Given the description of an element on the screen output the (x, y) to click on. 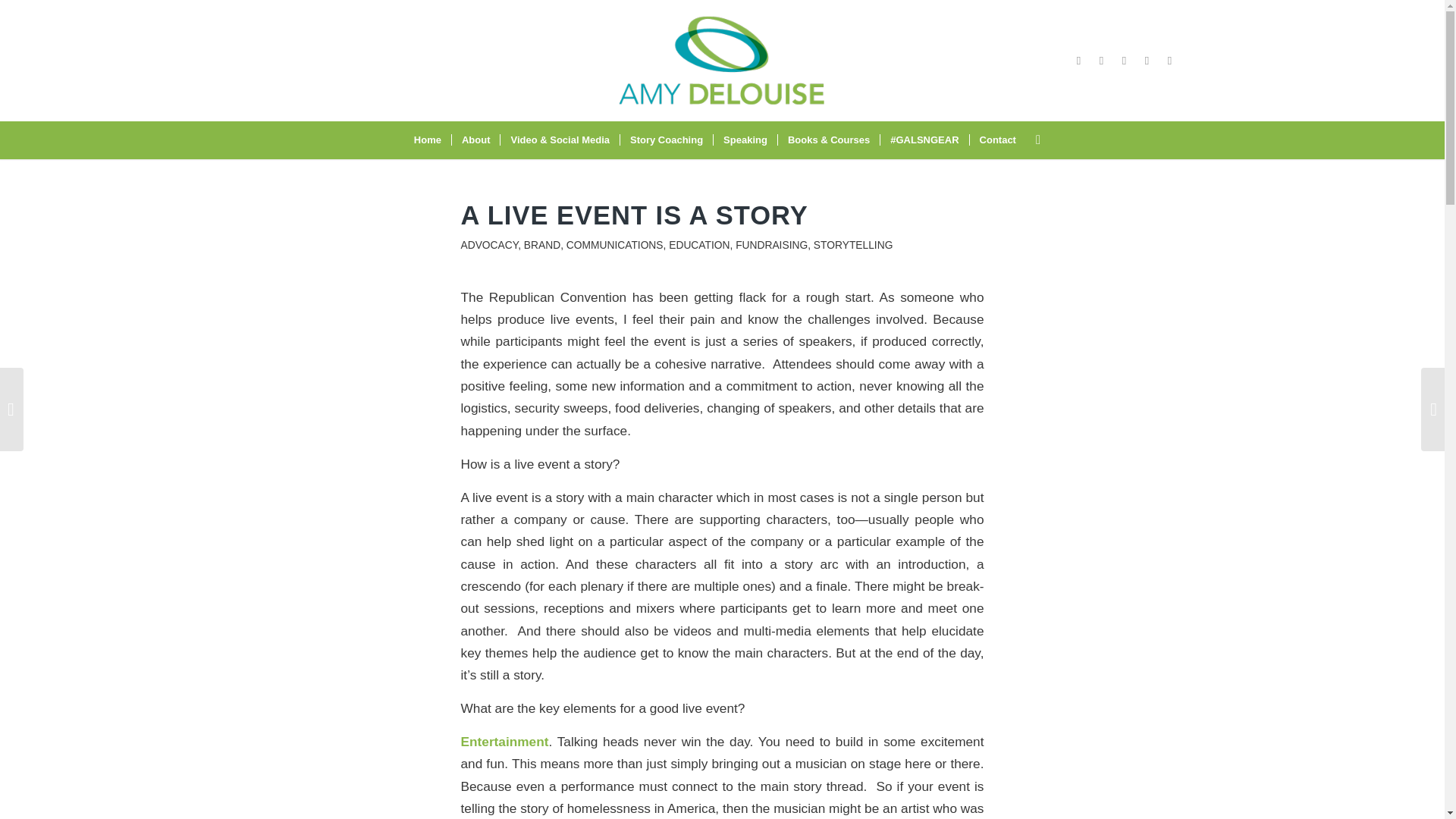
Instagram (1101, 60)
EDUCATION (698, 244)
Vimeo (1124, 60)
Speaking (745, 139)
Contact (997, 139)
About (475, 139)
ADVOCACY (489, 244)
Facebook (1078, 60)
COMMUNICATIONS (614, 244)
FUNDRAISING (771, 244)
